Given the description of an element on the screen output the (x, y) to click on. 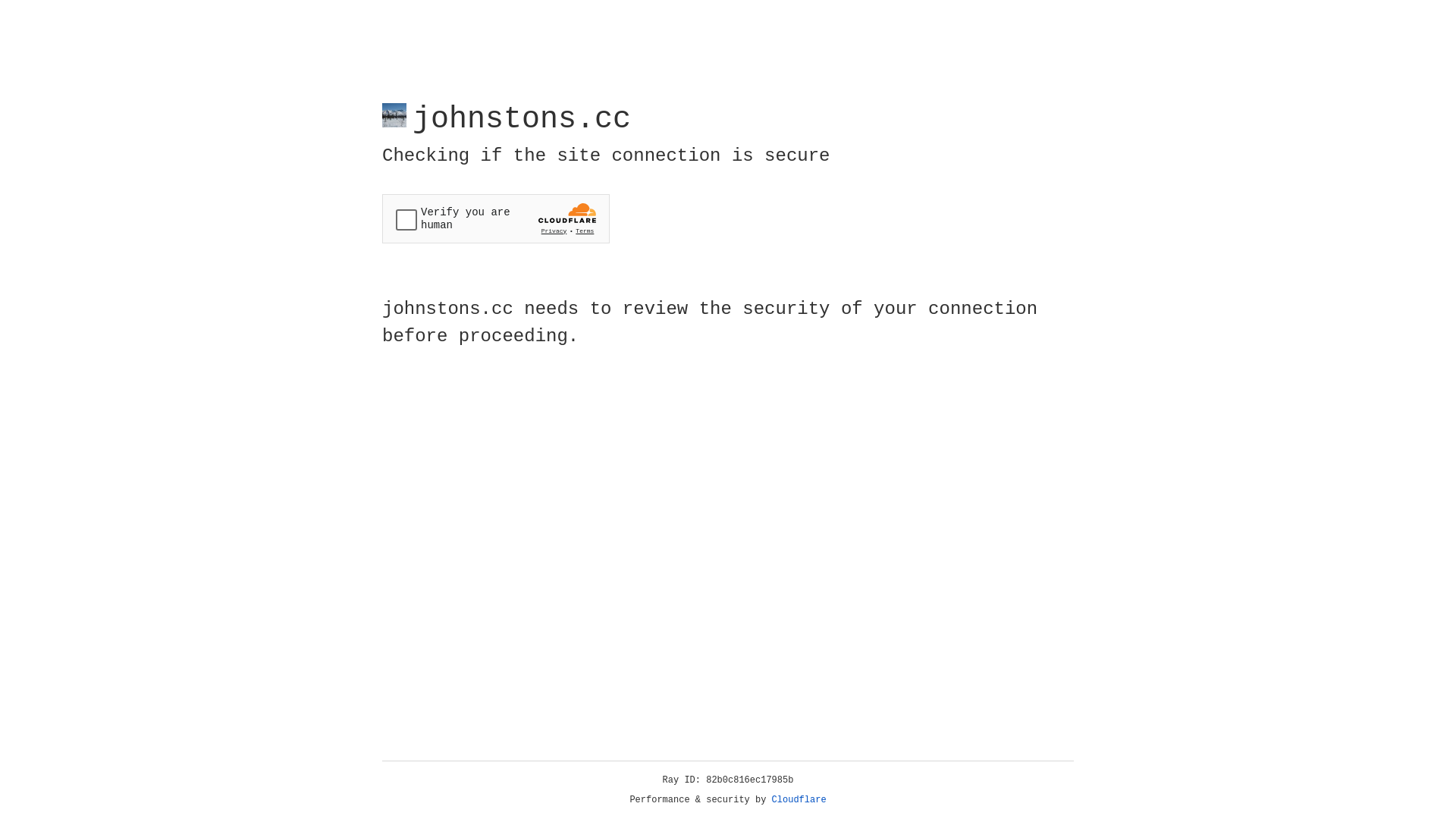
Cloudflare Element type: text (798, 799)
Widget containing a Cloudflare security challenge Element type: hover (495, 218)
